Given the description of an element on the screen output the (x, y) to click on. 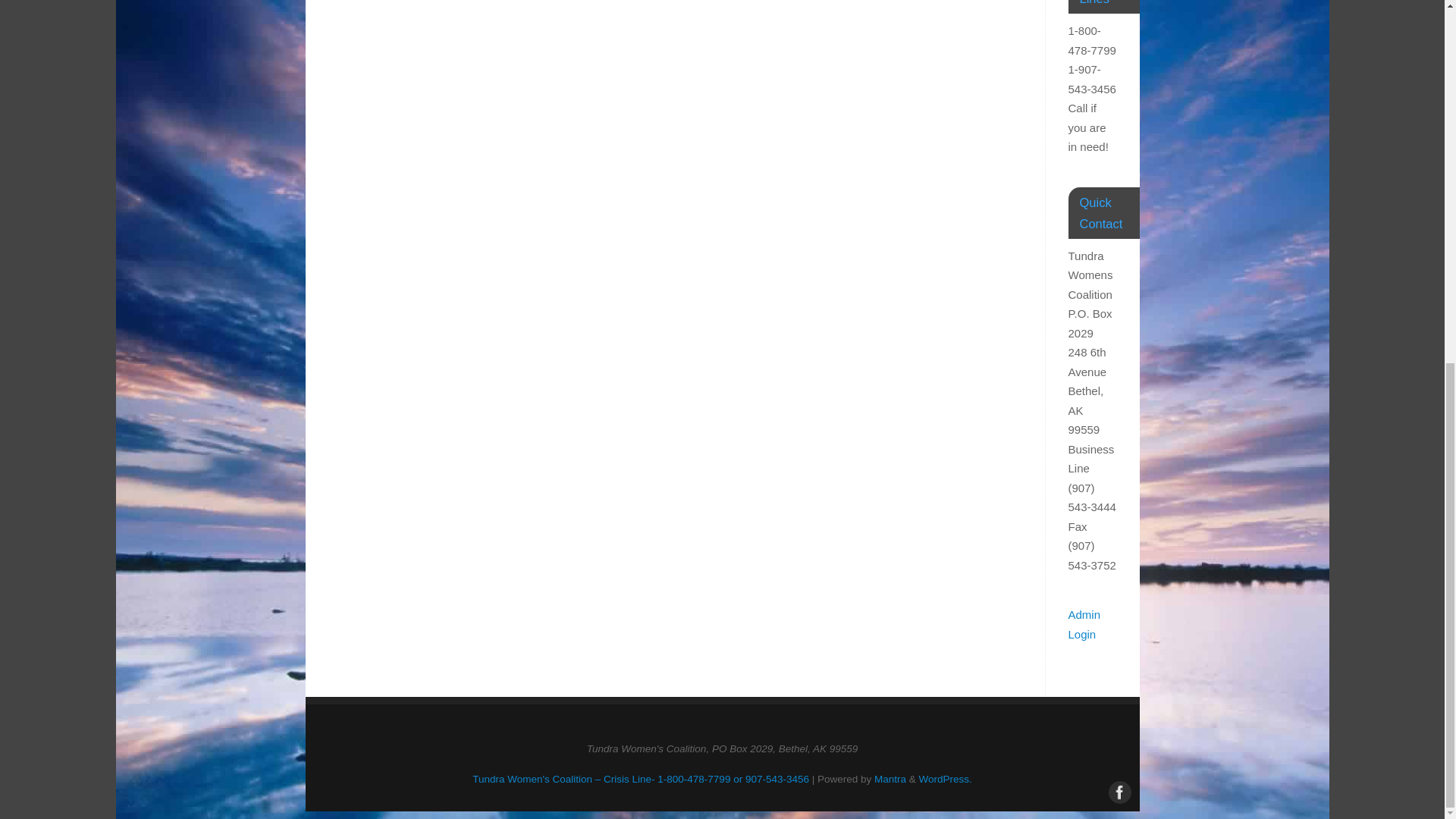
Semantic Personal Publishing Platform (945, 778)
Mantra Theme by Cryout Creations (890, 778)
Facebook (1118, 790)
